Given the description of an element on the screen output the (x, y) to click on. 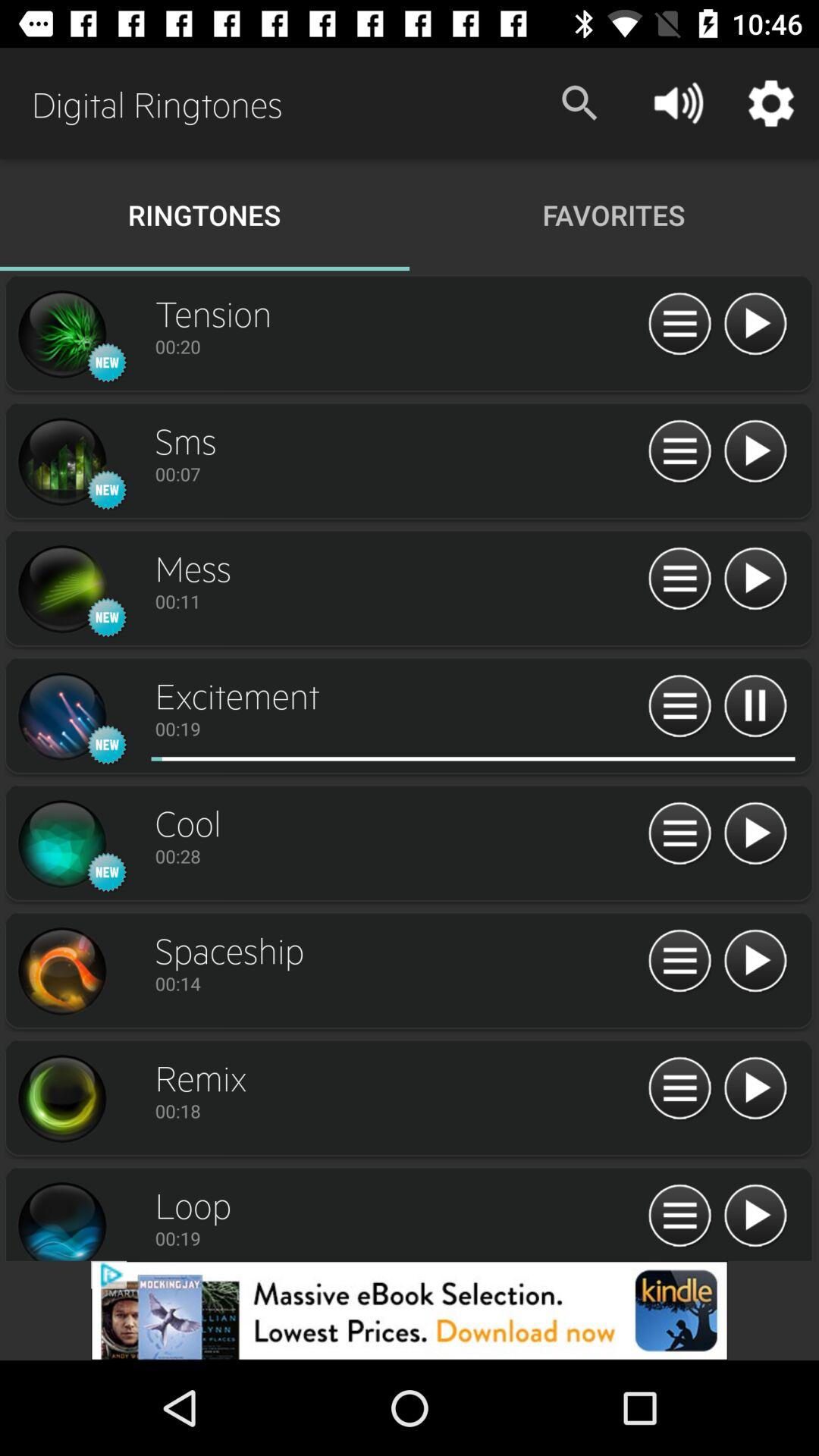
play ringtone (755, 324)
